Given the description of an element on the screen output the (x, y) to click on. 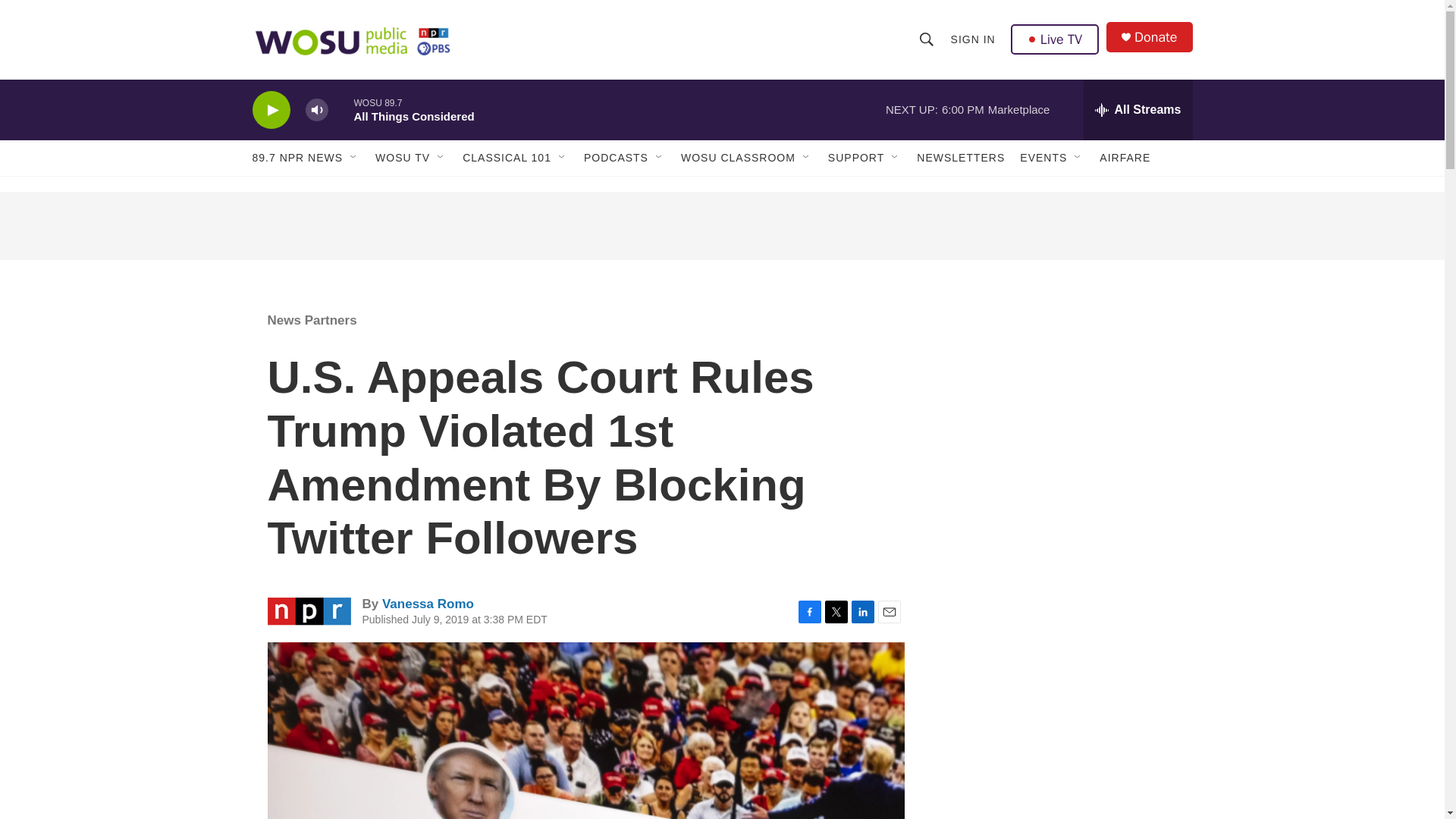
3rd party ad content (1062, 619)
3rd party ad content (721, 225)
3rd party ad content (1062, 400)
